Given the description of an element on the screen output the (x, y) to click on. 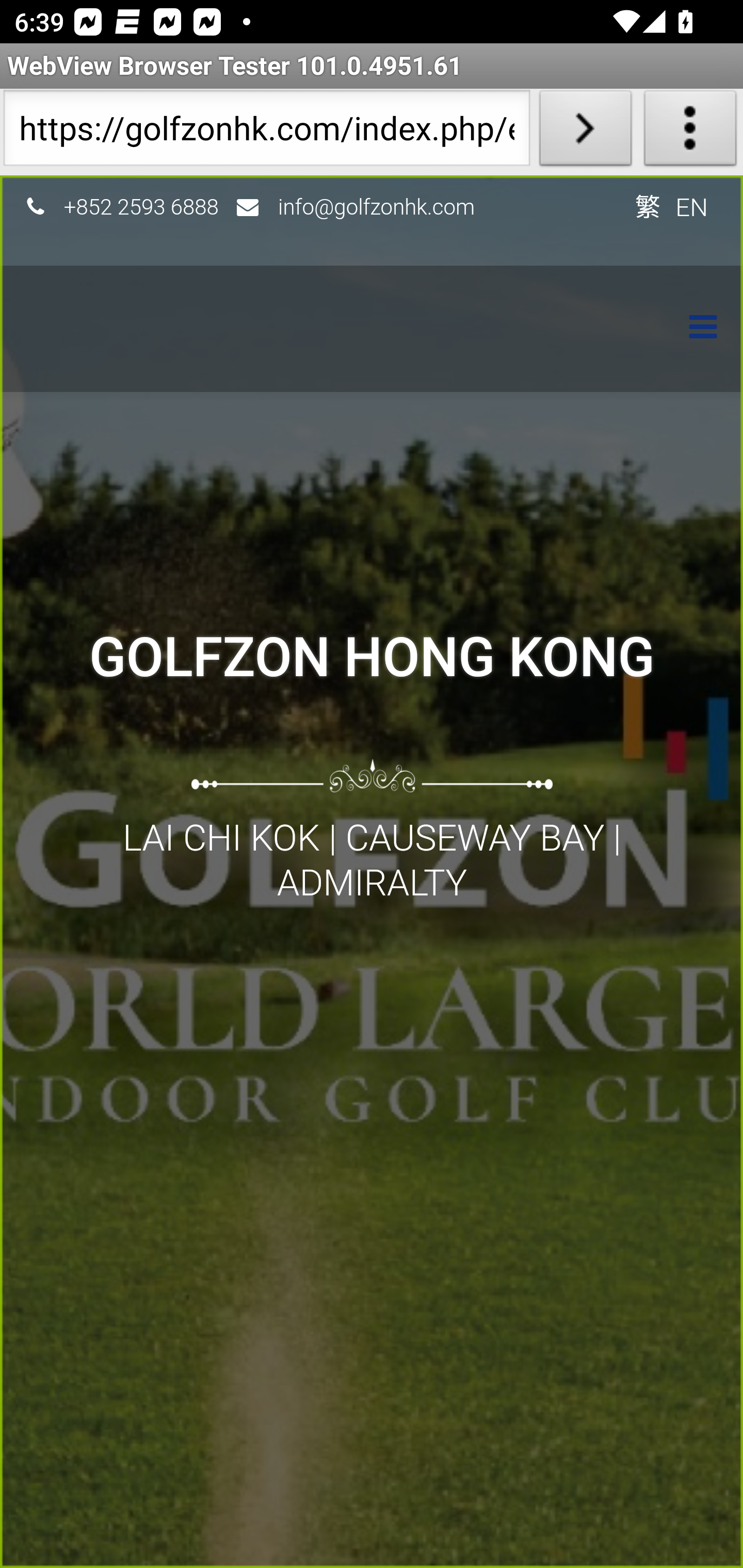
Load URL (585, 132)
About WebView (690, 132)
info@golfzonhk.com (377, 205)
繁 (647, 205)
EN (692, 205)
 (693, 328)
